Given the description of an element on the screen output the (x, y) to click on. 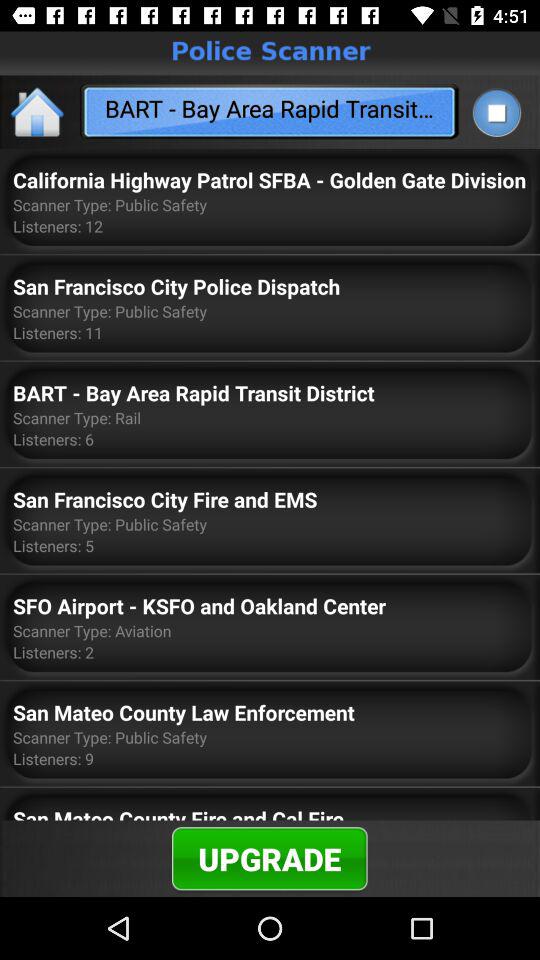
click the item above scanner type: aviation icon (199, 605)
